Given the description of an element on the screen output the (x, y) to click on. 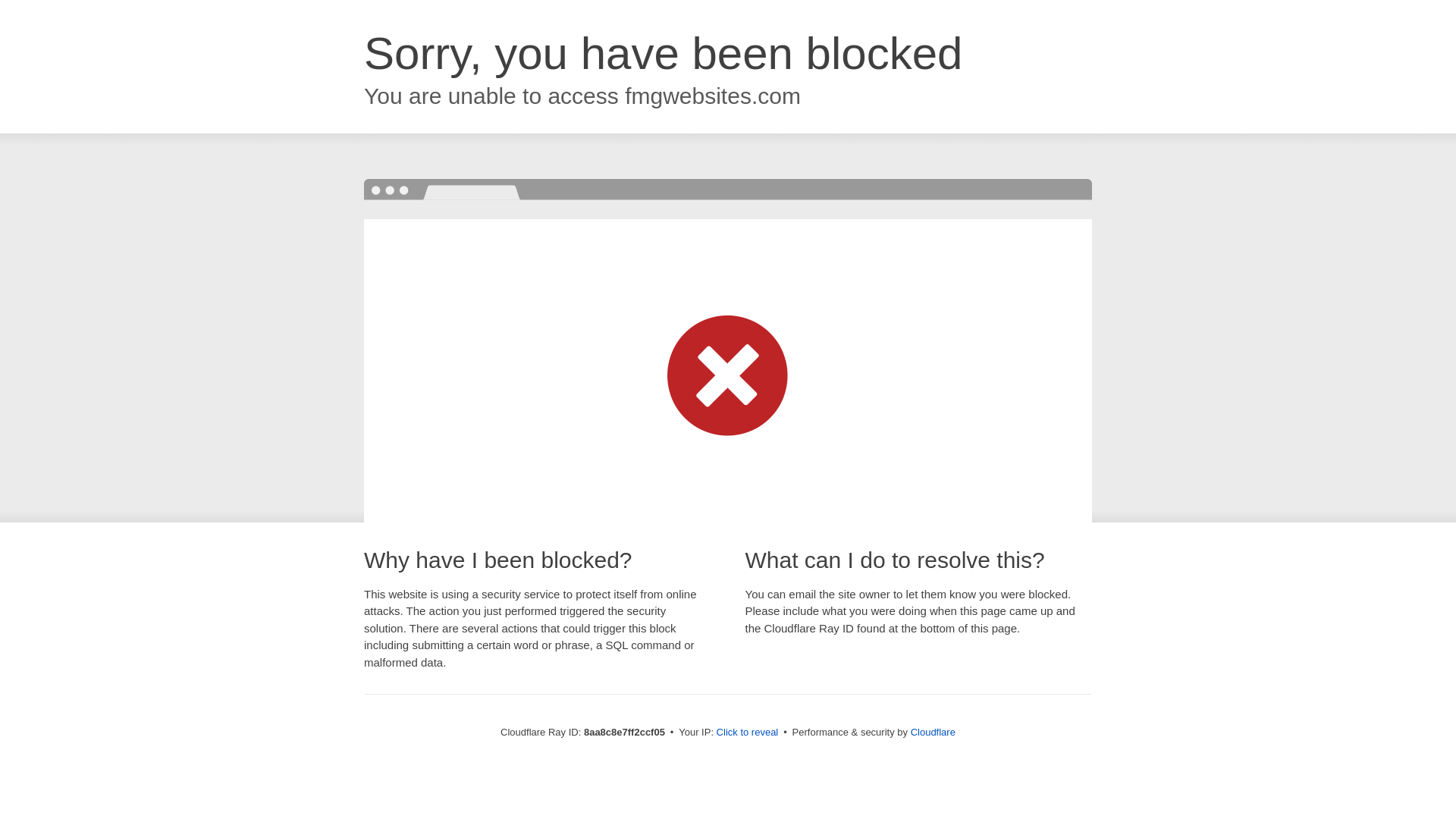
Cloudflare (933, 731)
Click to reveal (747, 732)
